Given the description of an element on the screen output the (x, y) to click on. 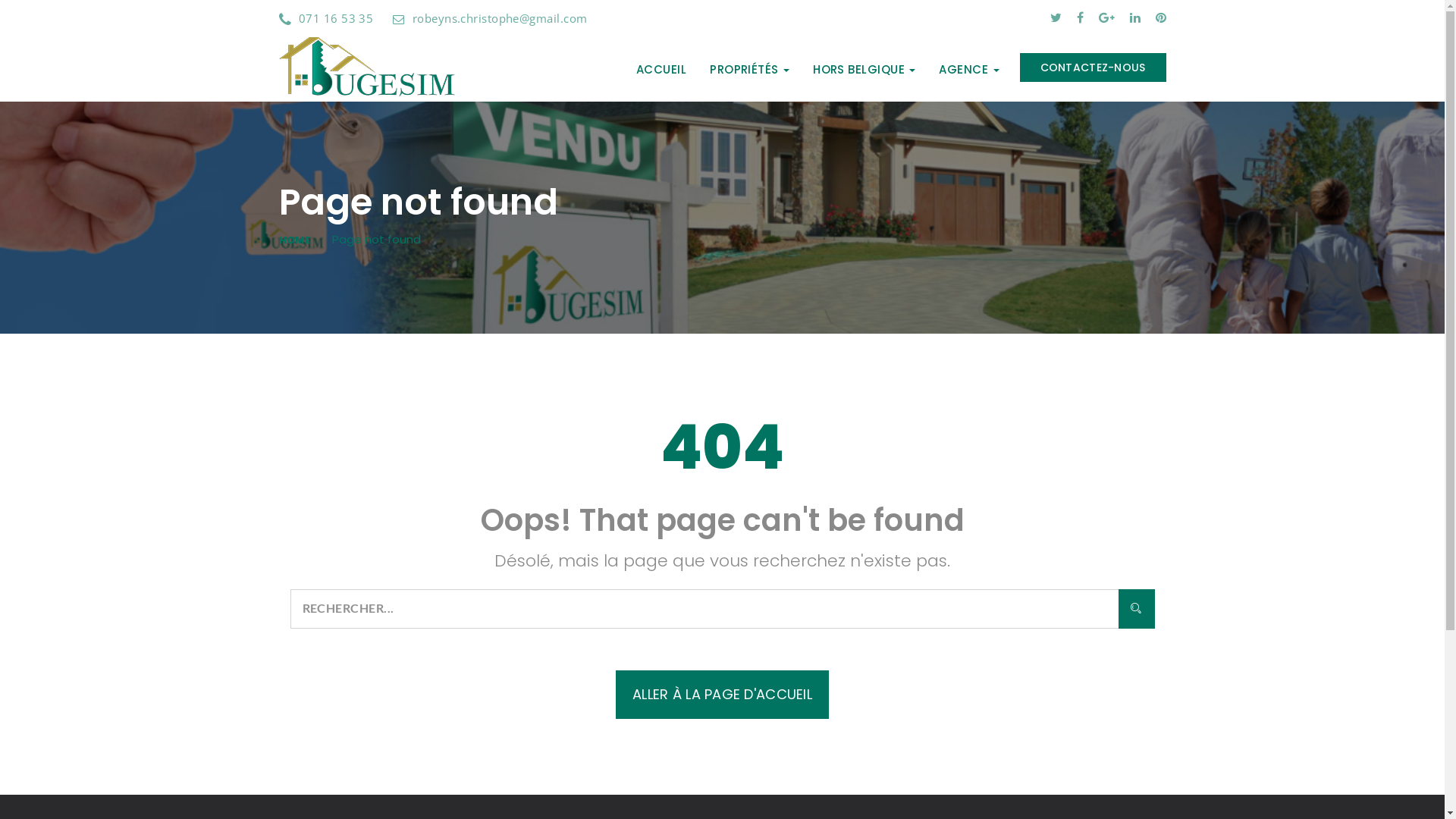
HORS BELGIQUE Element type: text (863, 69)
CONTACTEZ-NOUS Element type: text (1092, 67)
ACCUEIL Element type: text (661, 69)
HOME Element type: text (304, 239)
AGENCE Element type: text (968, 69)
Twitter Element type: hover (1054, 17)
Linkedin Element type: hover (1134, 17)
Pinterest Element type: hover (1160, 17)
Google Plus Element type: hover (1105, 17)
071 16 53 35 Element type: text (326, 17)
Facebook Element type: hover (1079, 17)
robeyns.christophe@gmail.com Element type: text (489, 17)
